Given the description of an element on the screen output the (x, y) to click on. 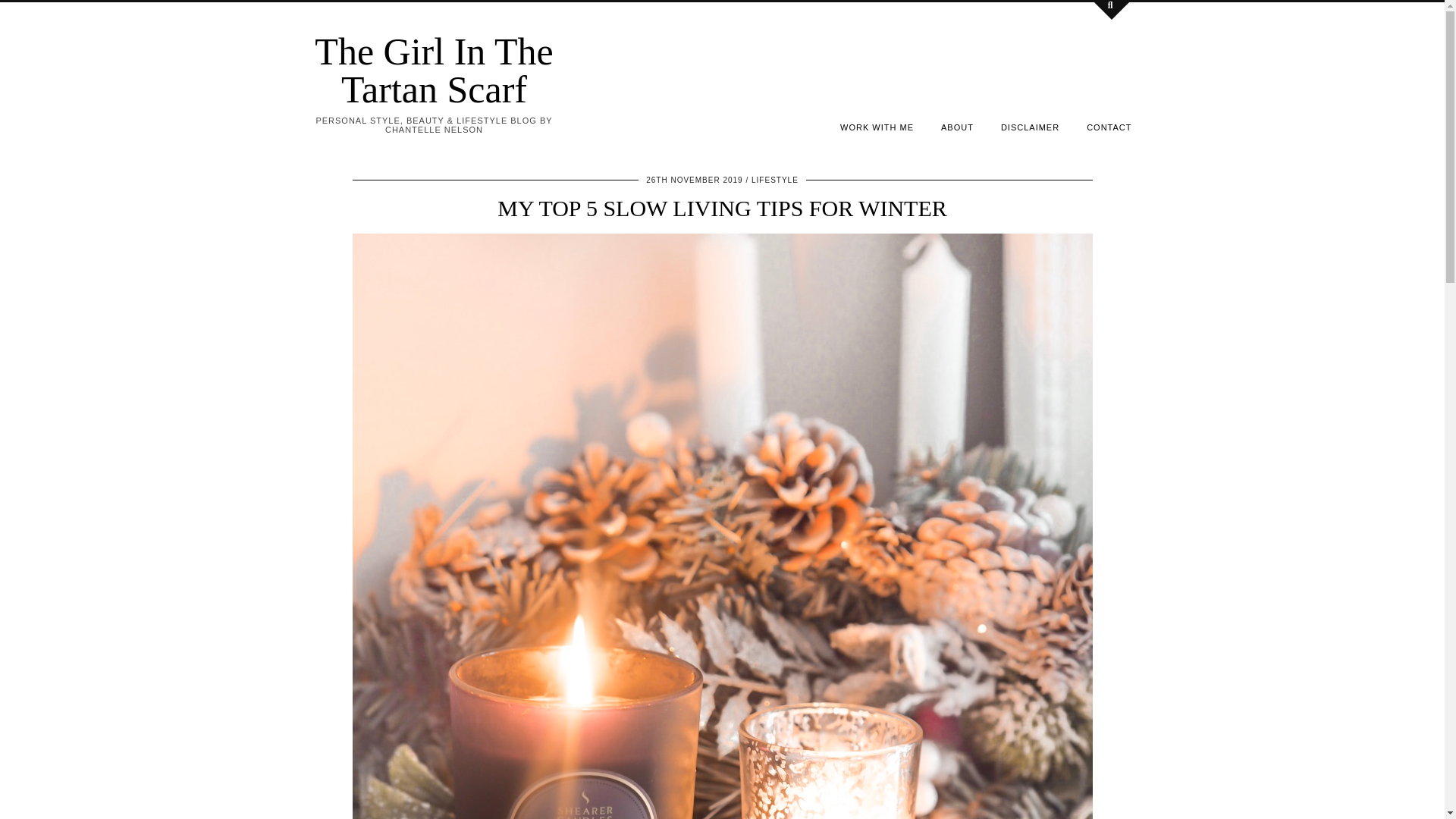
CONTACT (1108, 127)
The Girl In The Tartan Scarf (433, 70)
WORK WITH ME (877, 127)
DISCLAIMER (1030, 127)
ABOUT (957, 127)
The Girl In The Tartan Scarf (433, 70)
